Given the description of an element on the screen output the (x, y) to click on. 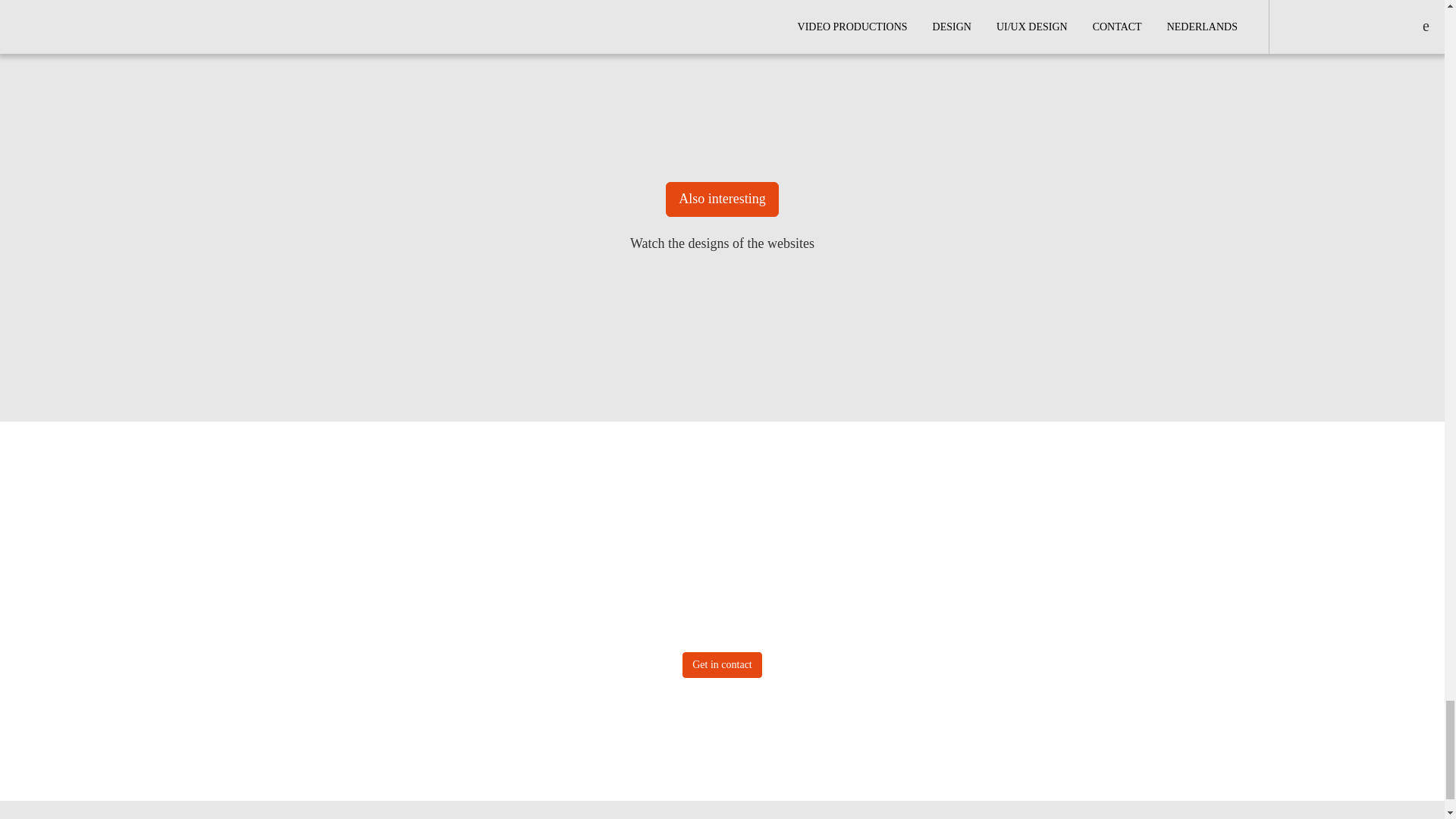
Get in contact (721, 664)
Also interesting (721, 199)
